Given the description of an element on the screen output the (x, y) to click on. 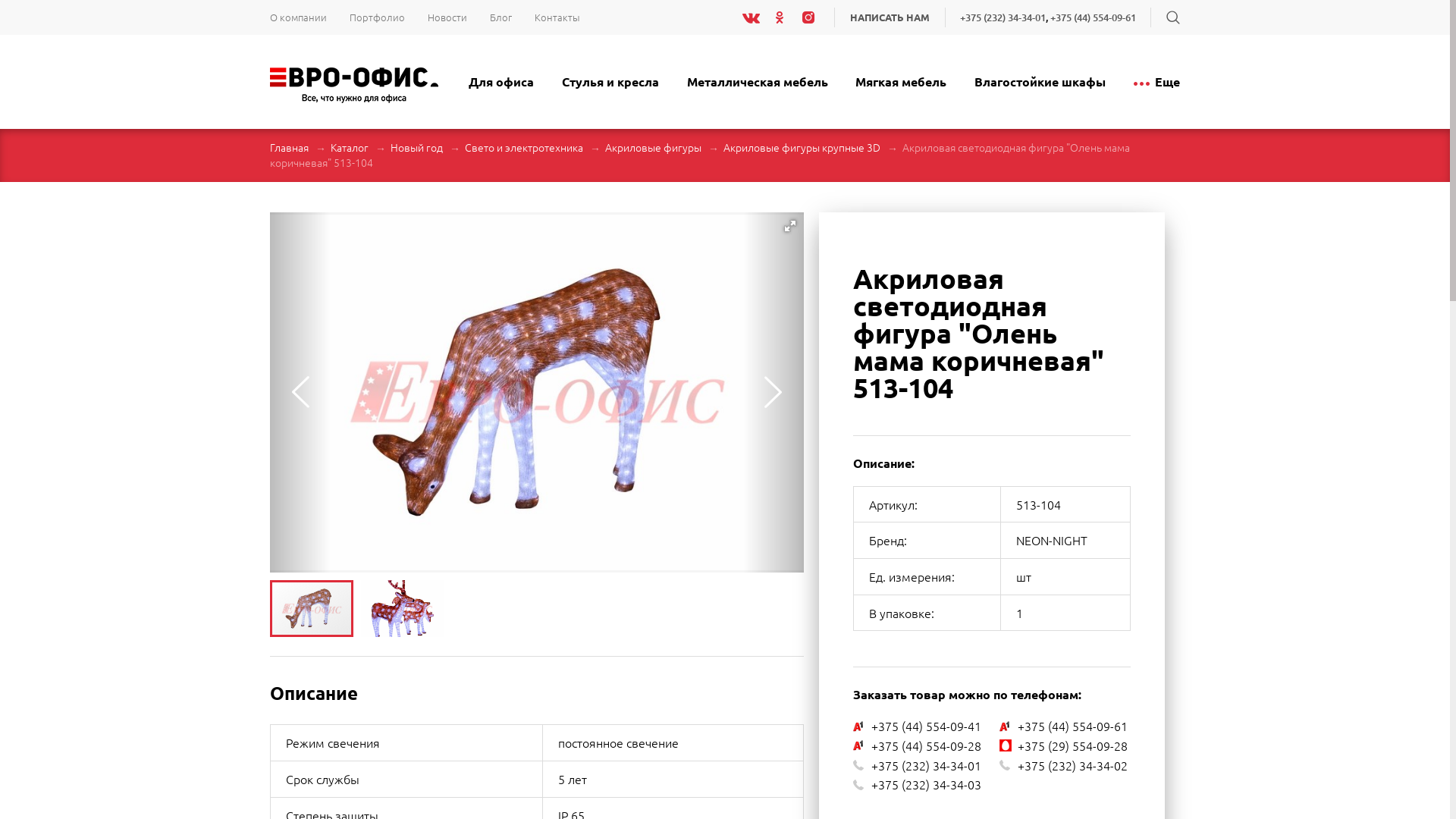
+375 (44) 554-09-61 Element type: text (1092, 17)
+375 (232) 34-34-01 Element type: text (1002, 17)
